Given the description of an element on the screen output the (x, y) to click on. 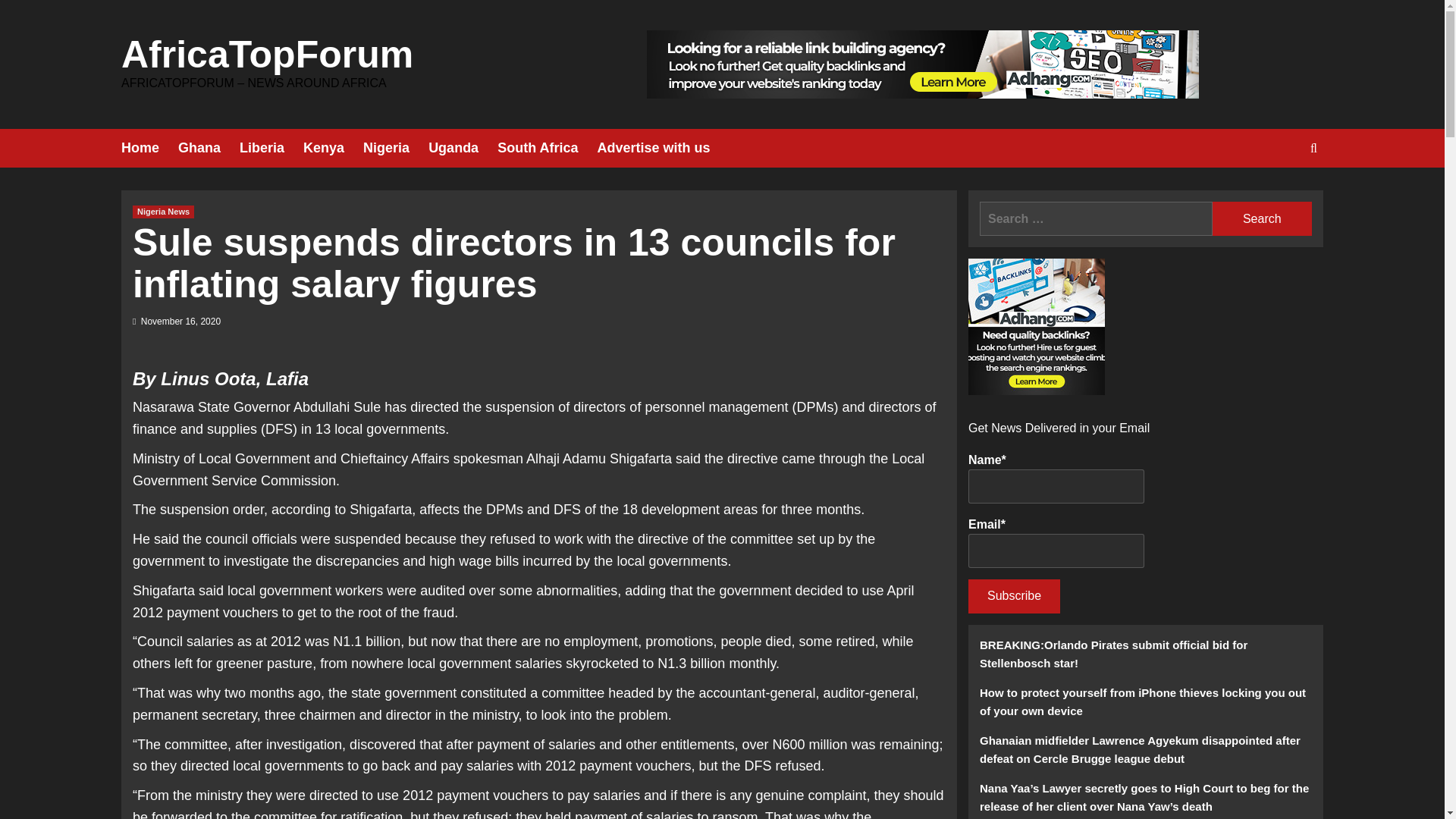
November 16, 2020 (181, 321)
Search (1278, 194)
Uganda (462, 147)
South Africa (546, 147)
Liberia (271, 147)
Subscribe (1013, 596)
Home (148, 147)
Advertise with us (662, 147)
Ghana (208, 147)
AfricaTopForum (266, 54)
Nigeria News (162, 211)
Kenya (332, 147)
Nigeria (395, 147)
Search (1261, 218)
Search (1261, 218)
